Given the description of an element on the screen output the (x, y) to click on. 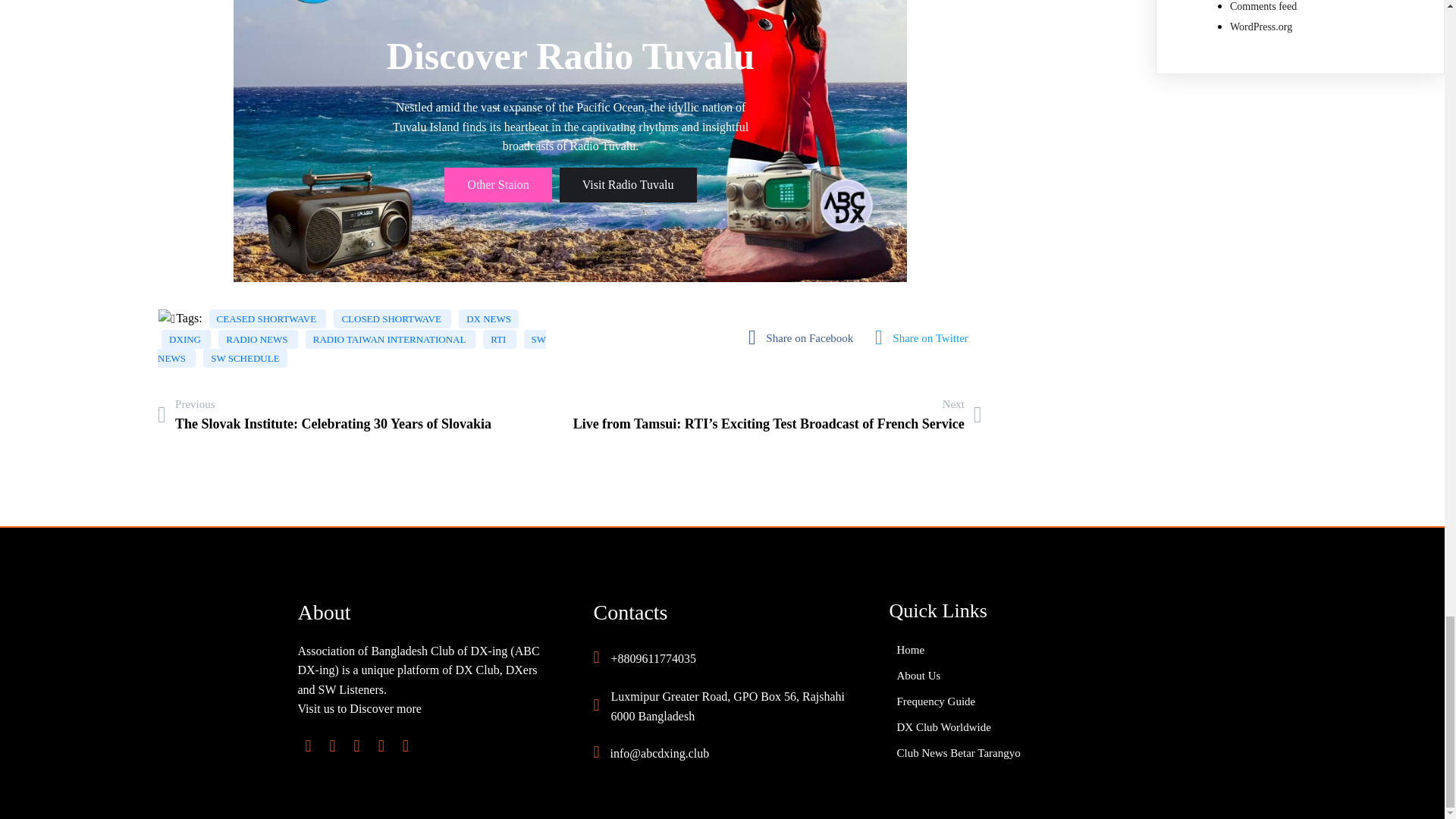
DXING (186, 339)
SW NEWS (351, 349)
CLOSED SHORTWAVE (392, 318)
fab fa-facebook-square (804, 337)
fab fa-twitter-square (925, 337)
CEASED SHORTWAVE (267, 318)
Visit Radio Tuvalu (628, 184)
Other Staion (497, 184)
DX NEWS (488, 318)
RADIO TAIWAN INTERNATIONAL (390, 339)
RTI (499, 339)
RADIO NEWS (258, 339)
